Given the description of an element on the screen output the (x, y) to click on. 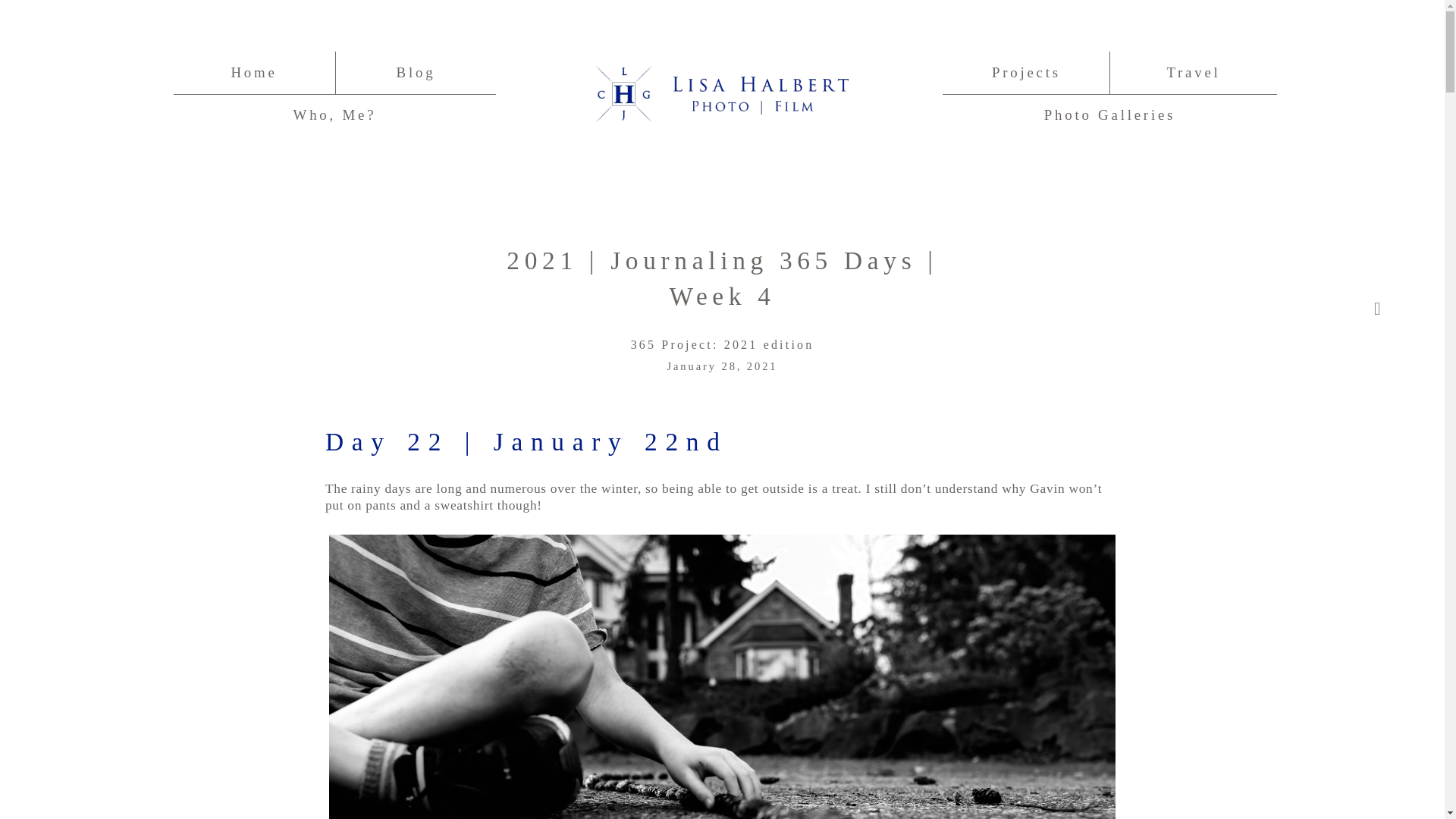
365 Project: 2021 edition (721, 344)
Who, Me? (335, 115)
Travel (1193, 72)
Home (253, 72)
Projects (1026, 72)
Photo Galleries (1108, 115)
Blog (415, 72)
